Given the description of an element on the screen output the (x, y) to click on. 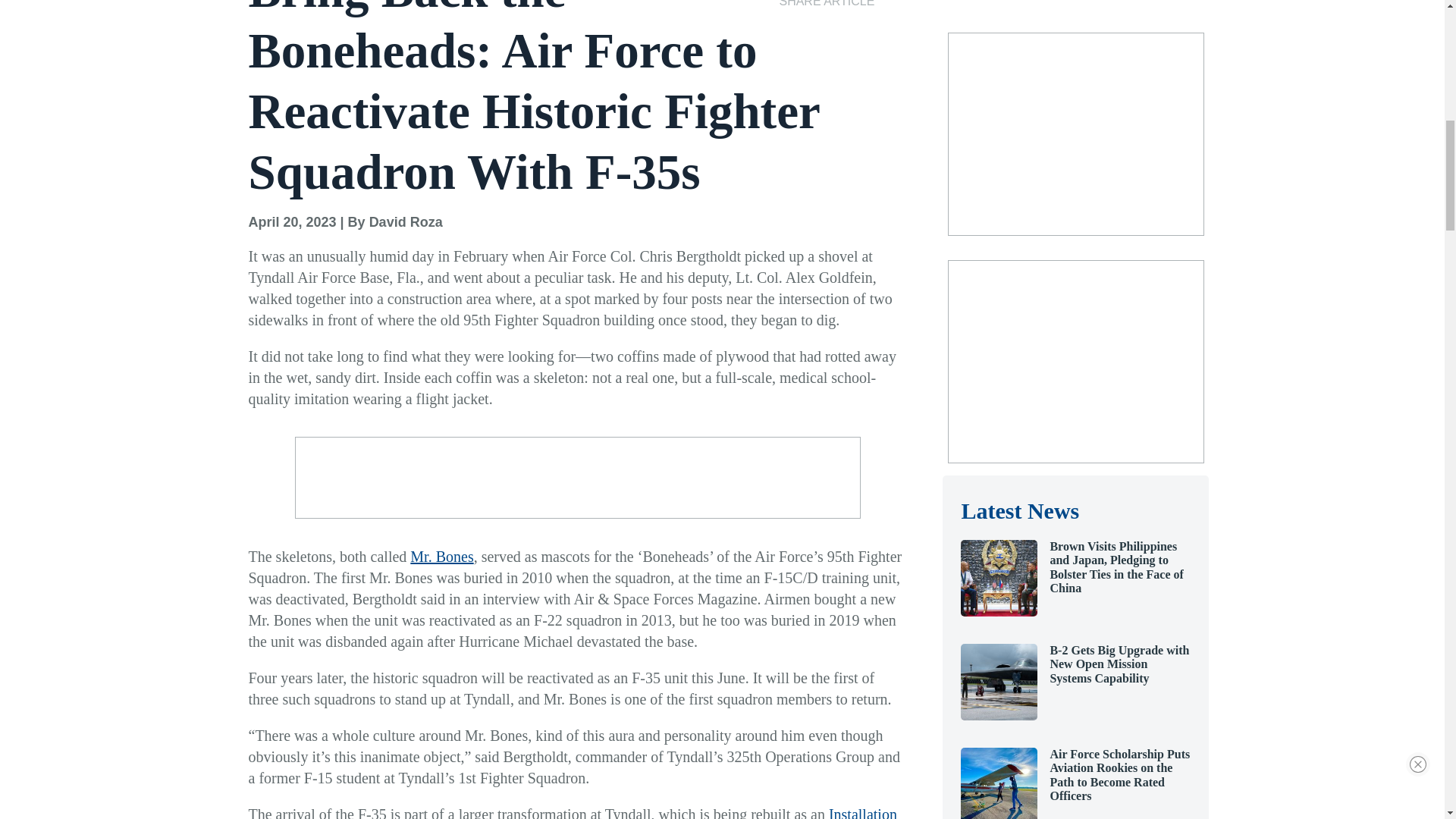
3rd party ad content (1075, 134)
3rd party ad content (577, 477)
3rd party ad content (1075, 361)
